Given the description of an element on the screen output the (x, y) to click on. 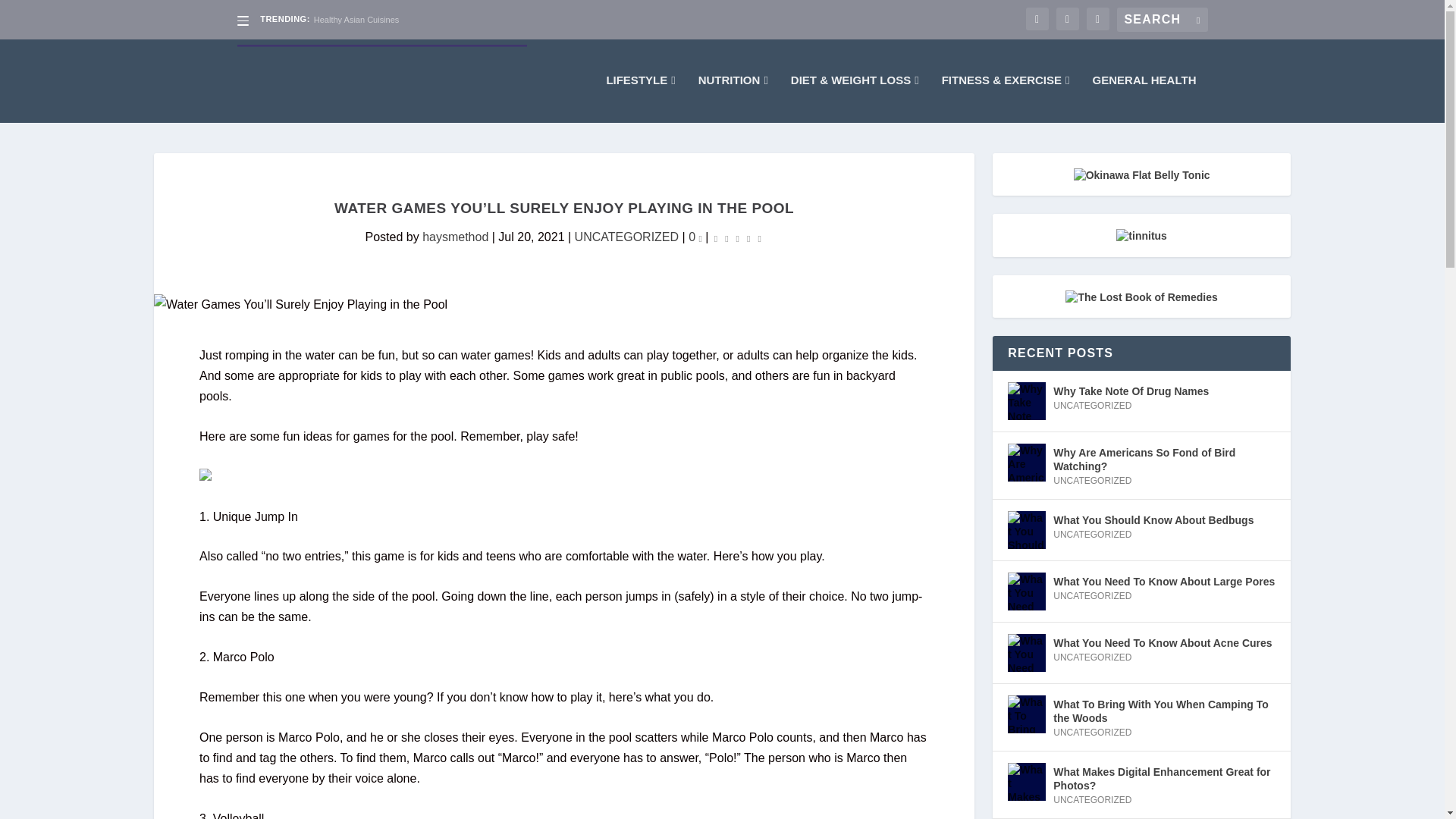
Search for: (1161, 19)
NUTRITION (733, 98)
Rating: 0.00 (736, 237)
haysmethod (454, 236)
UNCATEGORIZED (626, 236)
Healthy Asian Cuisines (356, 19)
LIFESTYLE (640, 98)
0 (694, 236)
GENERAL HEALTH (1144, 98)
Posts by haysmethod (454, 236)
